Given the description of an element on the screen output the (x, y) to click on. 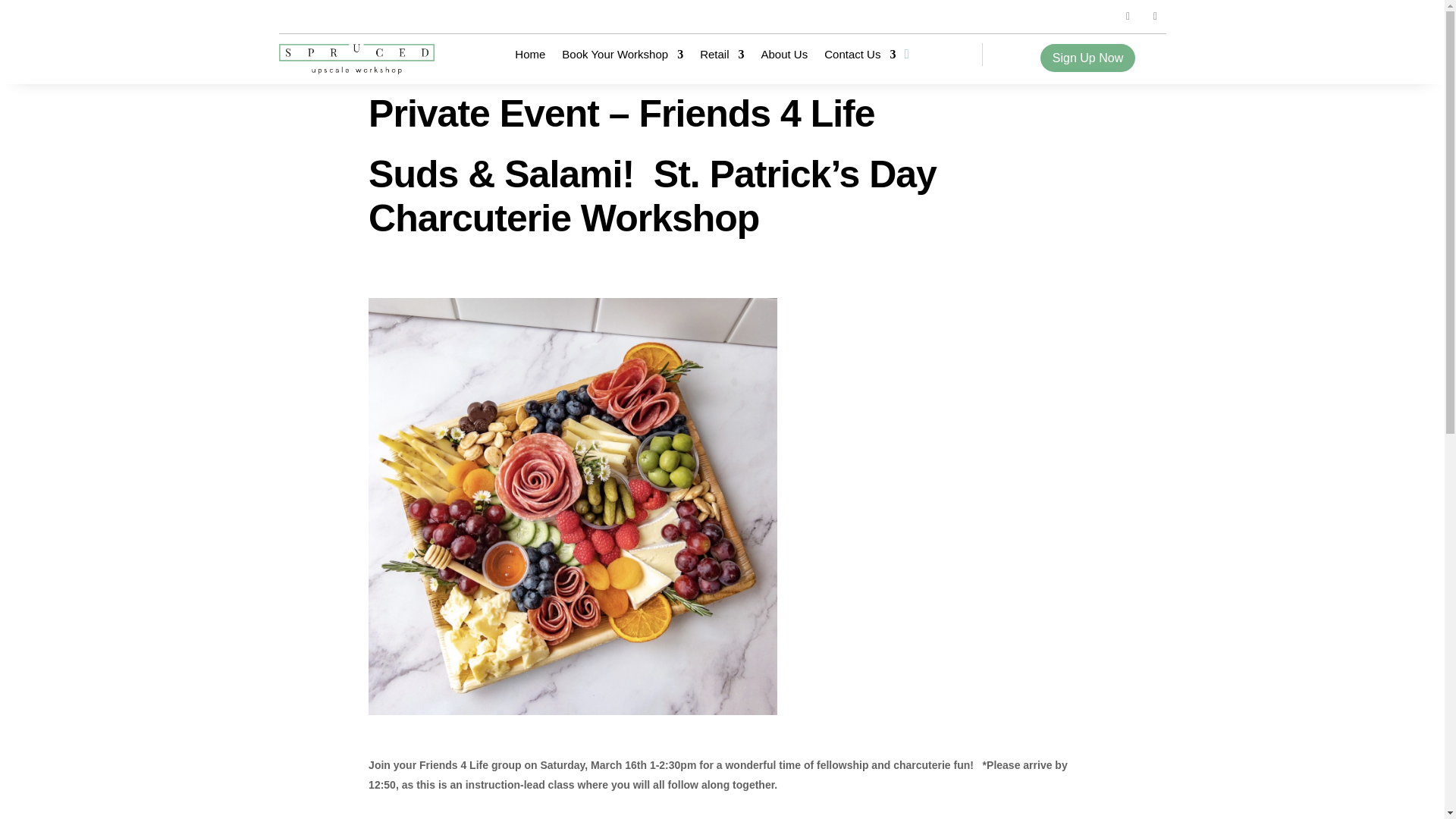
Retail (722, 57)
About Us (784, 57)
Home (529, 57)
logo (357, 59)
Follow on Instagram (1155, 16)
Sign Up Now (1088, 58)
Book Your Workshop (622, 57)
Follow on Facebook (1128, 16)
Contact Us (859, 57)
